Given the description of an element on the screen output the (x, y) to click on. 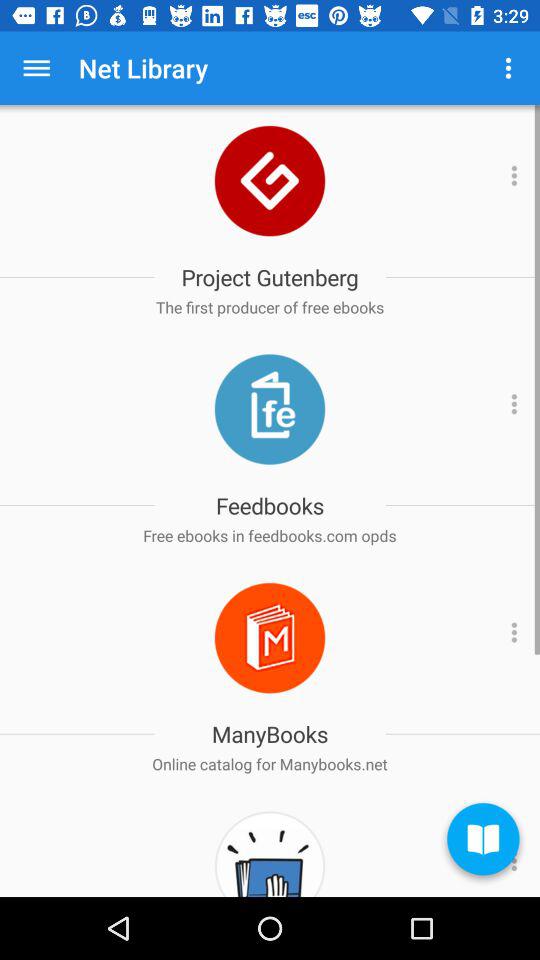
choose app to the left of net library (36, 68)
